Given the description of an element on the screen output the (x, y) to click on. 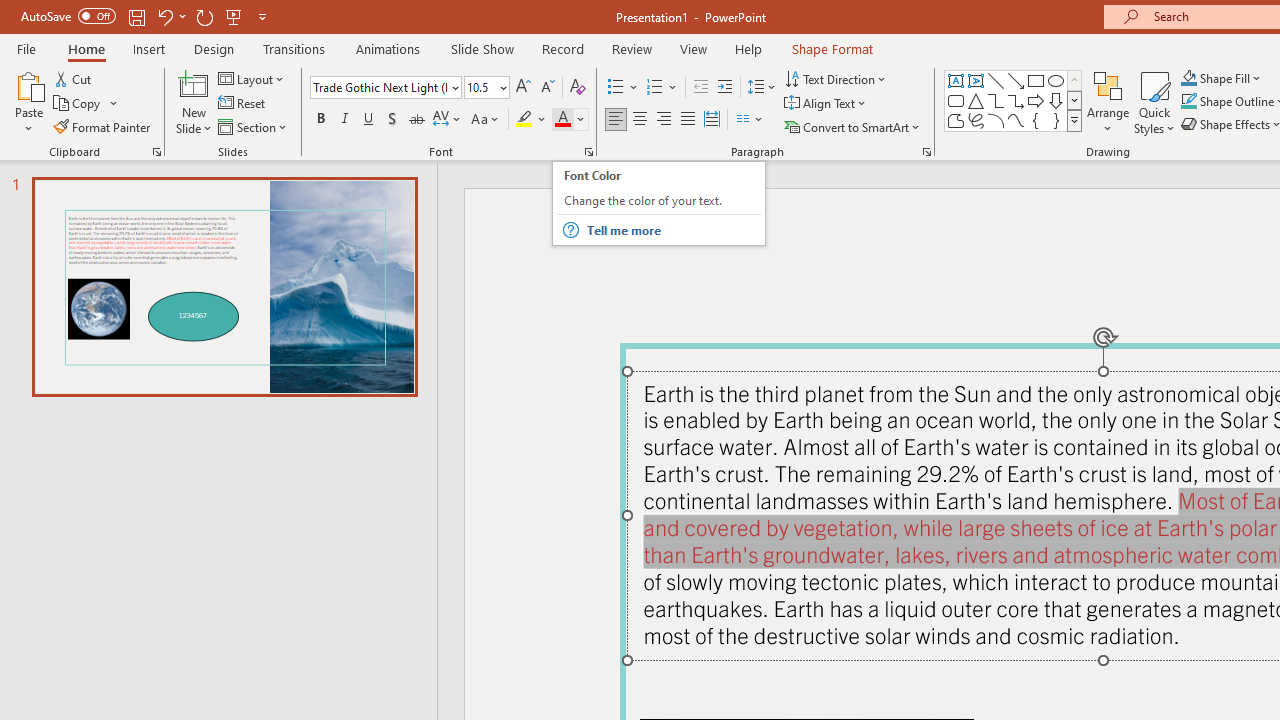
Tell me more (672, 230)
